Given the description of an element on the screen output the (x, y) to click on. 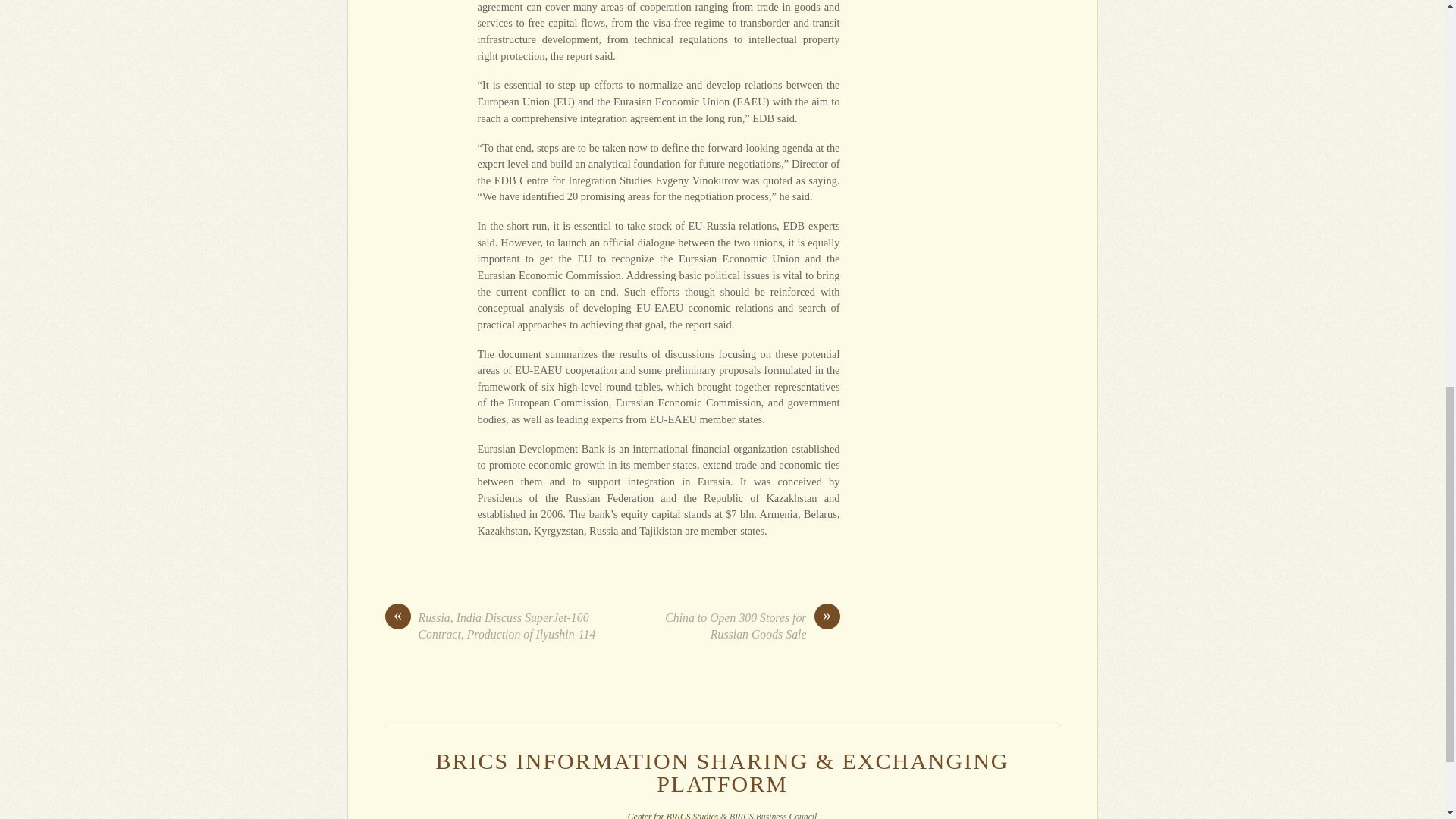
Center for BRICS Studies (672, 815)
